Given the description of an element on the screen output the (x, y) to click on. 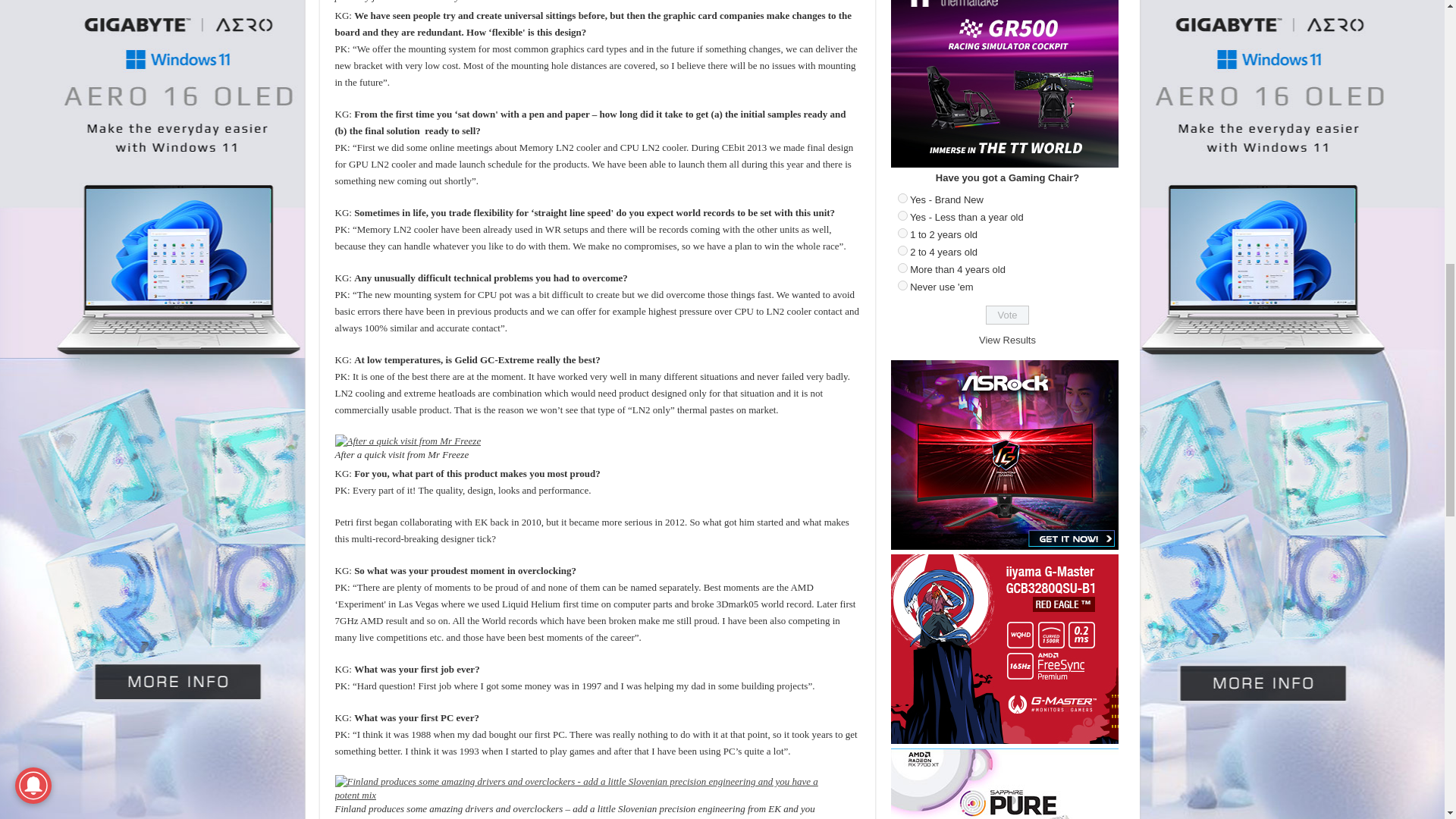
1373 (902, 198)
View Results Of This Poll (1006, 339)
1377 (902, 267)
1376 (902, 250)
1374 (902, 215)
1378 (902, 285)
   Vote    (1007, 314)
1375 (902, 233)
